Given the description of an element on the screen output the (x, y) to click on. 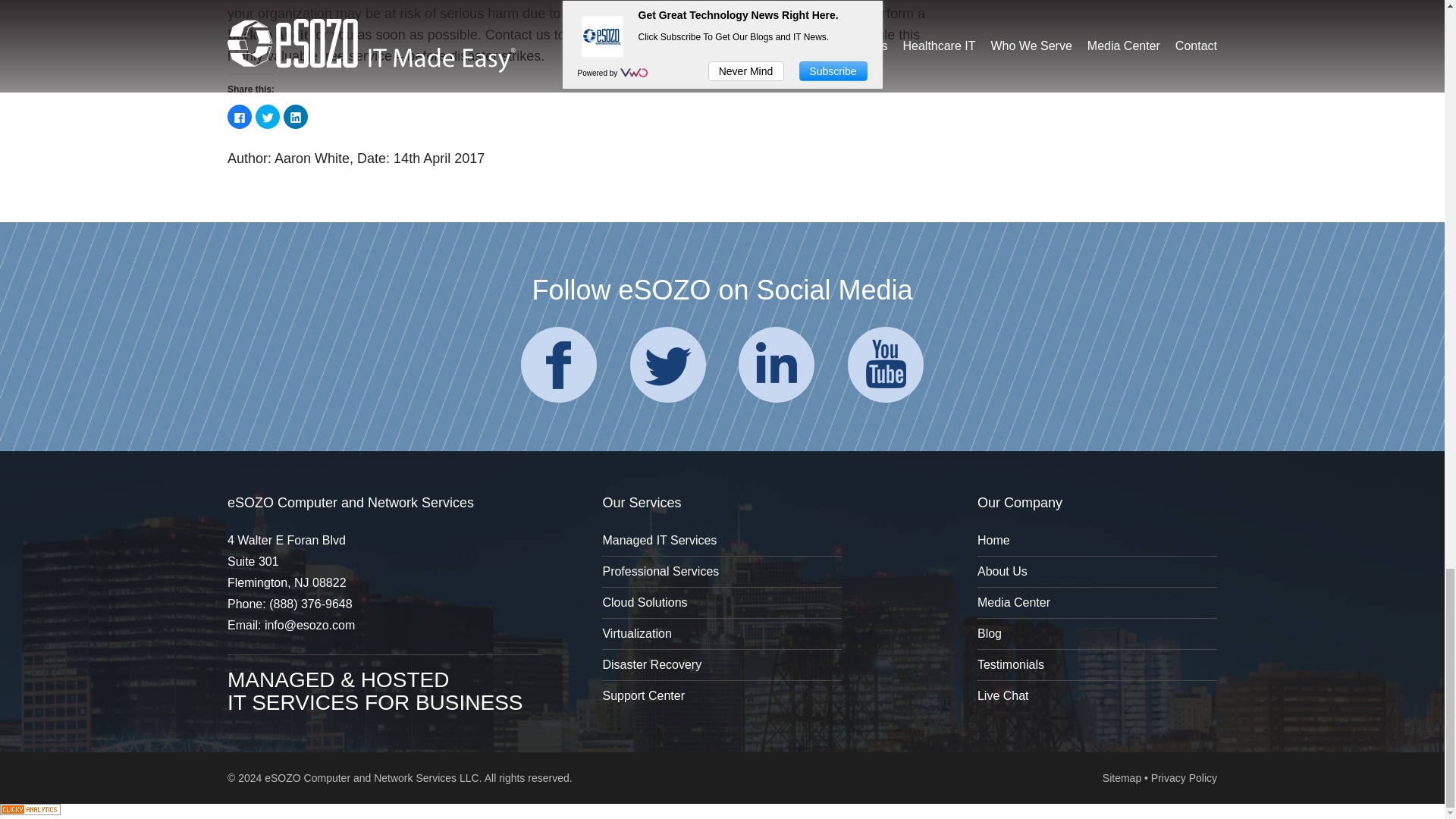
Real Time Analytics (30, 810)
Click to share on Facebook (239, 116)
Click to share on LinkedIn (295, 116)
Click to share on Twitter (267, 116)
